Given the description of an element on the screen output the (x, y) to click on. 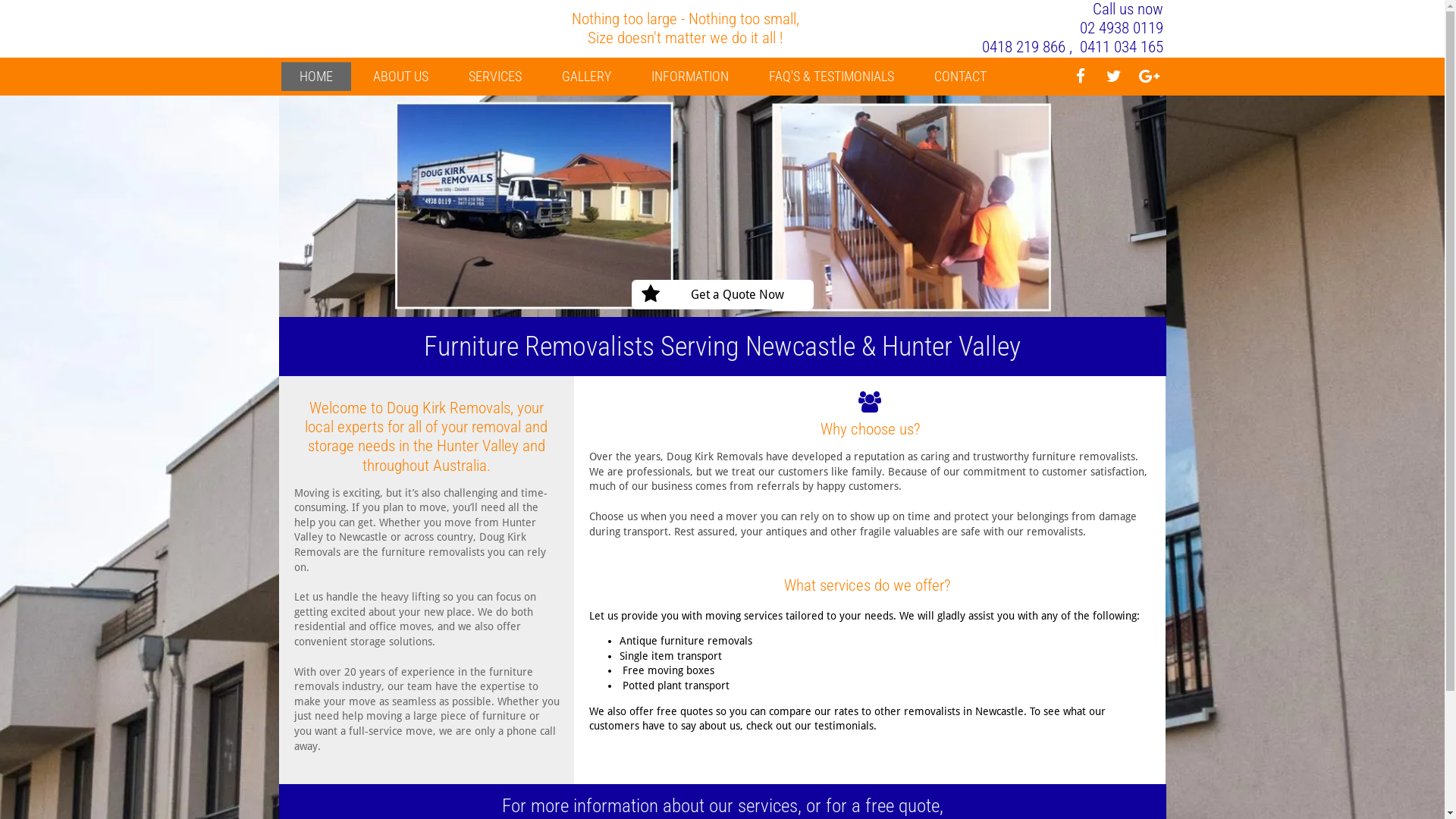
HOME Element type: text (315, 76)
FAQ'S & TESTIMONIALS Element type: text (831, 76)
testimonials Element type: text (843, 725)
0411 034 165 Element type: text (1121, 46)
ABOUT US Element type: text (400, 76)
INFORMATION Element type: text (689, 76)
CONTACT Element type: text (960, 76)
02 4938 0119 Element type: text (1121, 27)
Get a Quote Now Element type: text (721, 294)
0418 219 866 Element type: text (1023, 46)
SERVICES Element type: text (494, 76)
GALLERY Element type: text (585, 76)
